Given the description of an element on the screen output the (x, y) to click on. 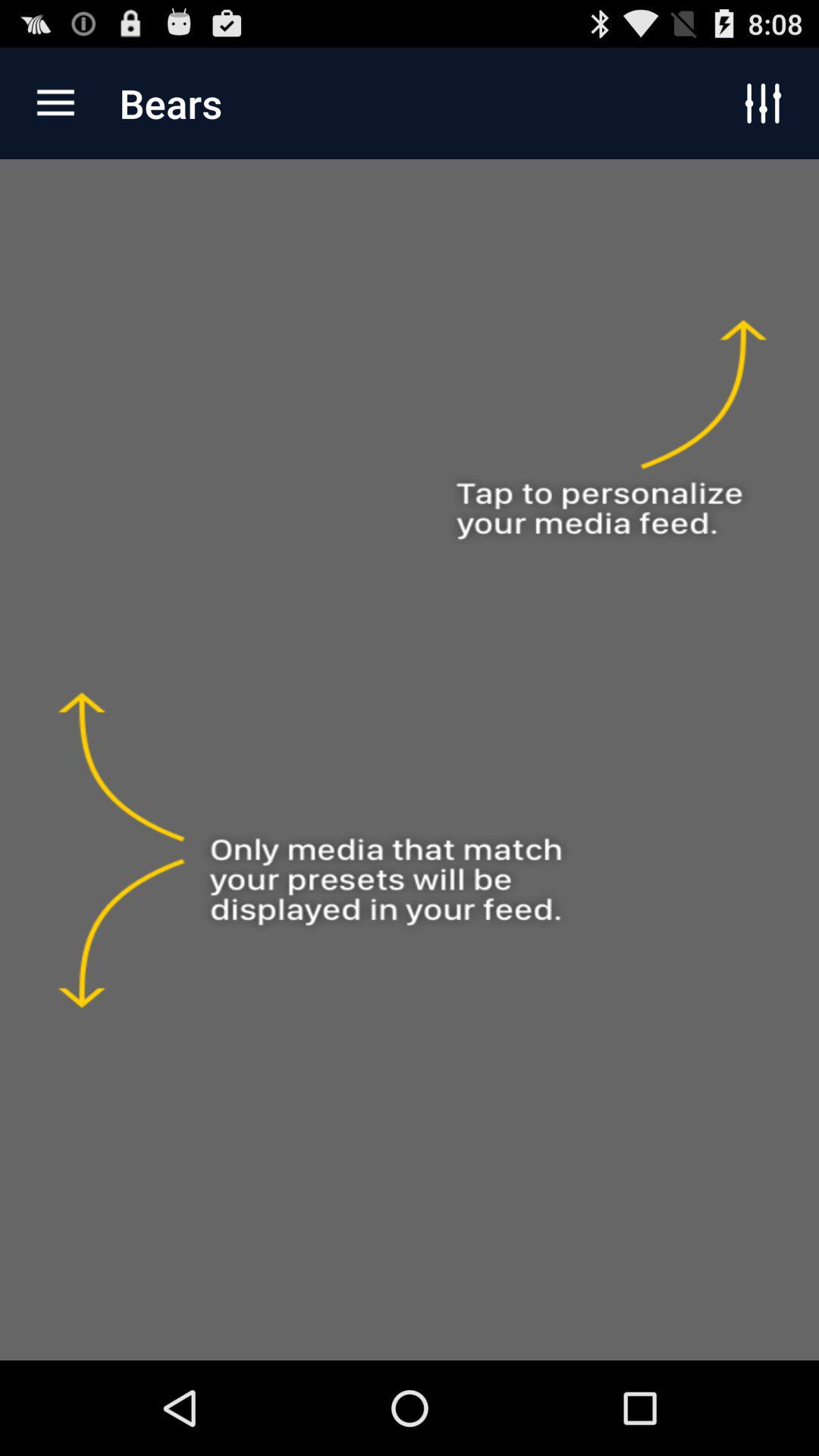
display media feed (409, 759)
